Given the description of an element on the screen output the (x, y) to click on. 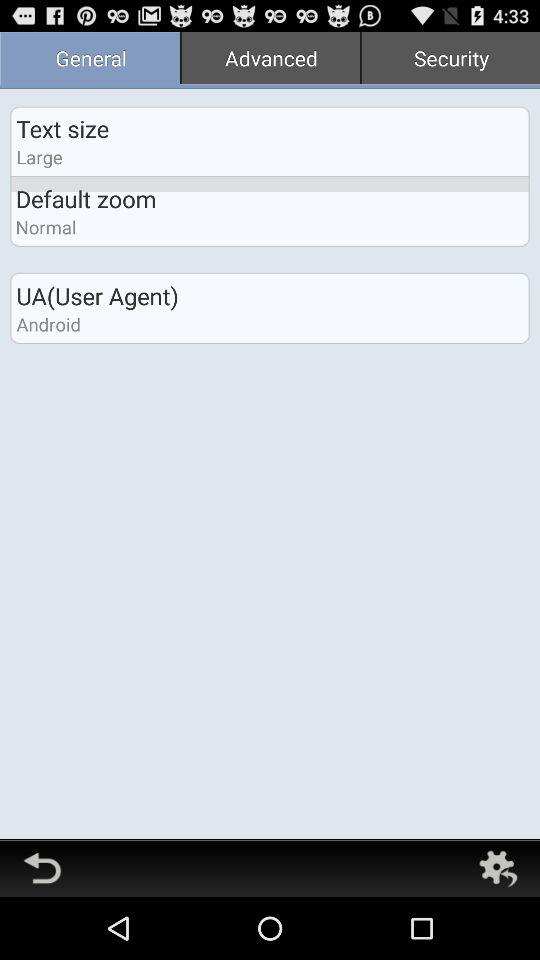
jump to default zoom item (85, 198)
